Given the description of an element on the screen output the (x, y) to click on. 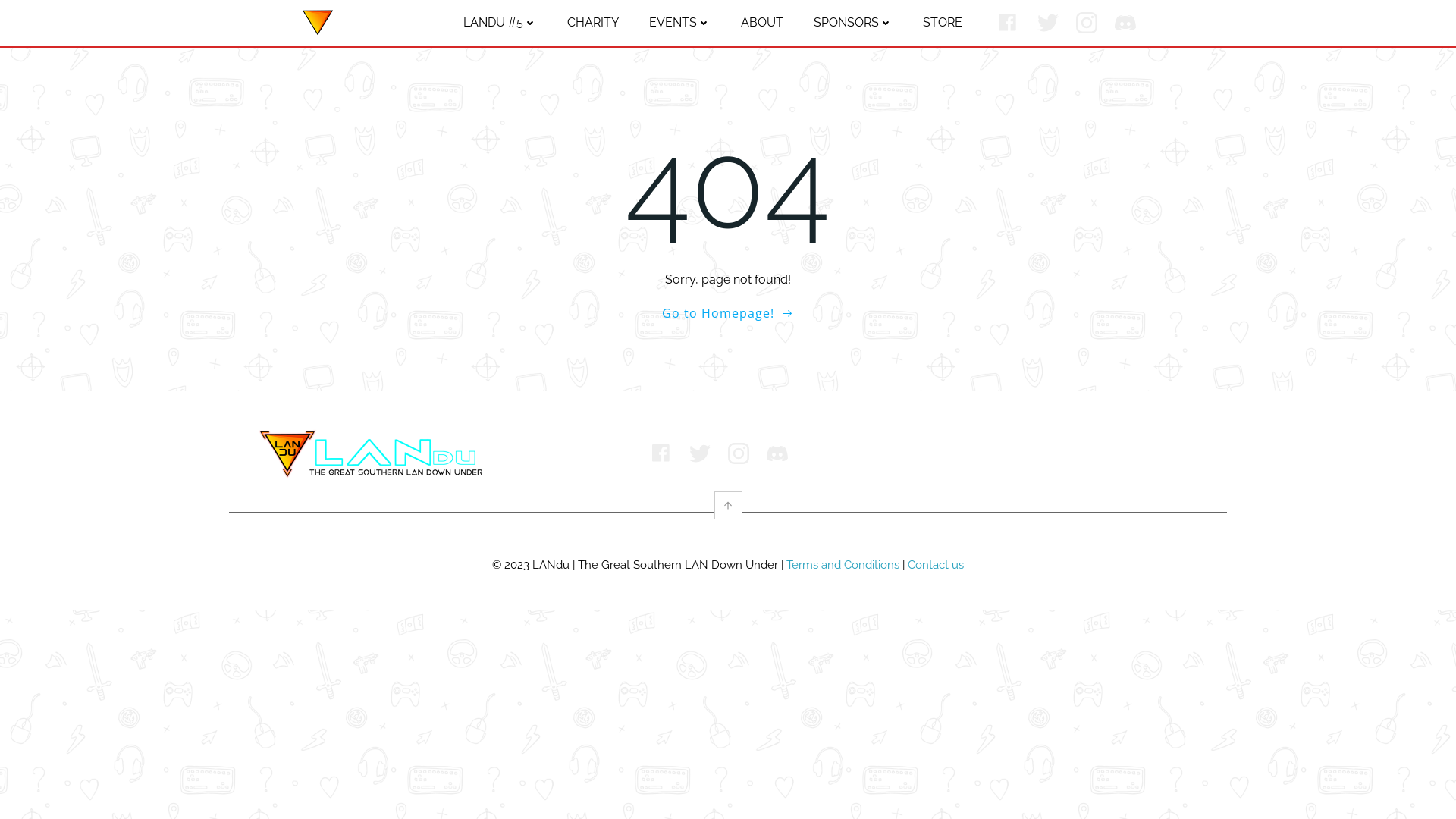
STORE Element type: text (942, 22)
ABOUT Element type: text (761, 22)
LANDU #5 Element type: text (499, 22)
CHARITY Element type: text (592, 22)
EVENTS Element type: text (679, 22)
Go to Homepage! Element type: text (727, 313)
Terms and Conditions Element type: text (842, 564)
Contact us Element type: text (935, 564)
SPONSORS Element type: text (852, 22)
